Given the description of an element on the screen output the (x, y) to click on. 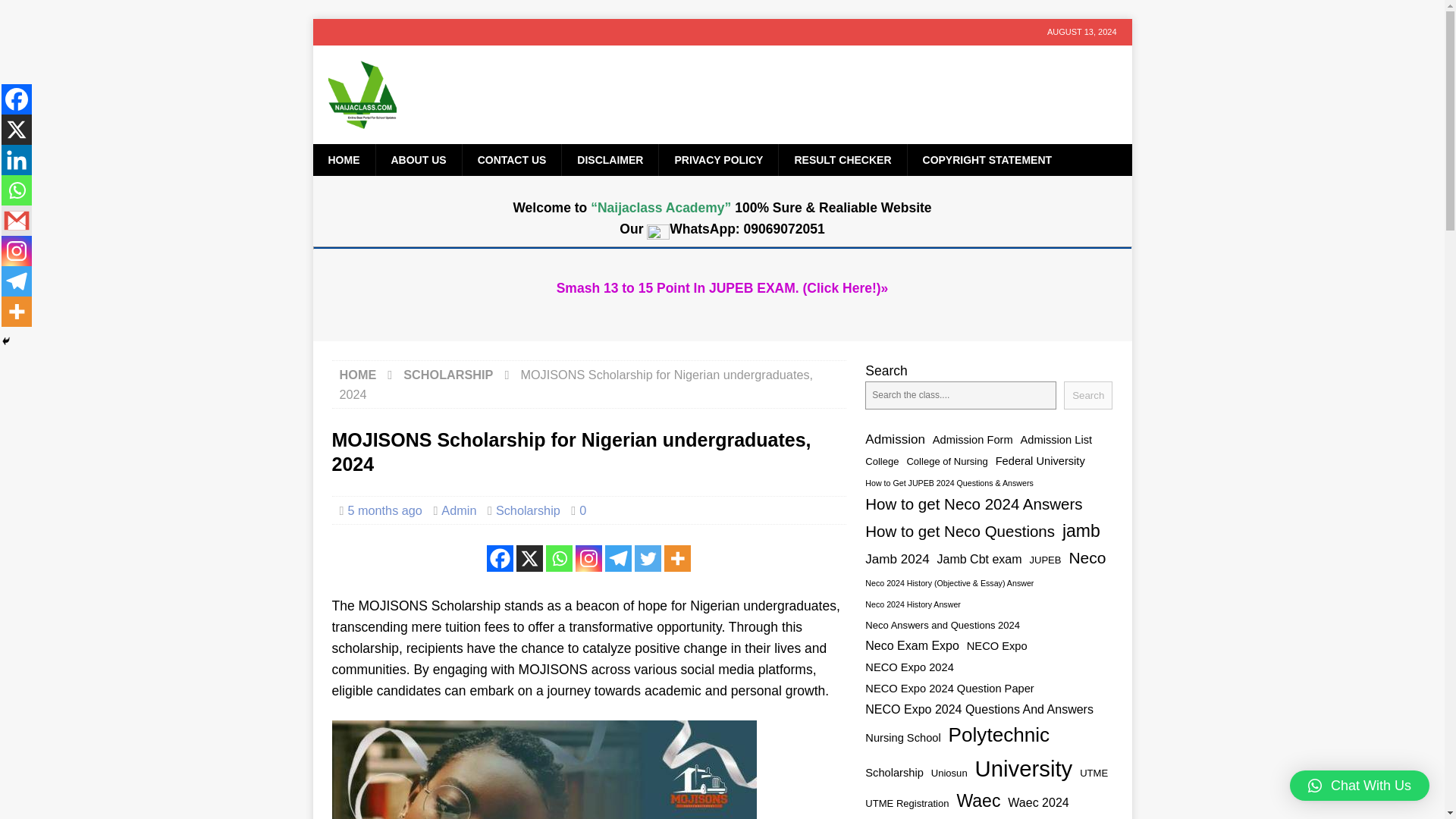
COPYRIGHT STATEMENT (987, 160)
CONTACT US (511, 160)
Scholarship (528, 509)
5 months ago (384, 509)
Whatsapp (559, 558)
HOME (343, 160)
Telegram (618, 558)
Facebook (499, 558)
Twitter (647, 558)
SCHOLARSHIP (448, 374)
